Given the description of an element on the screen output the (x, y) to click on. 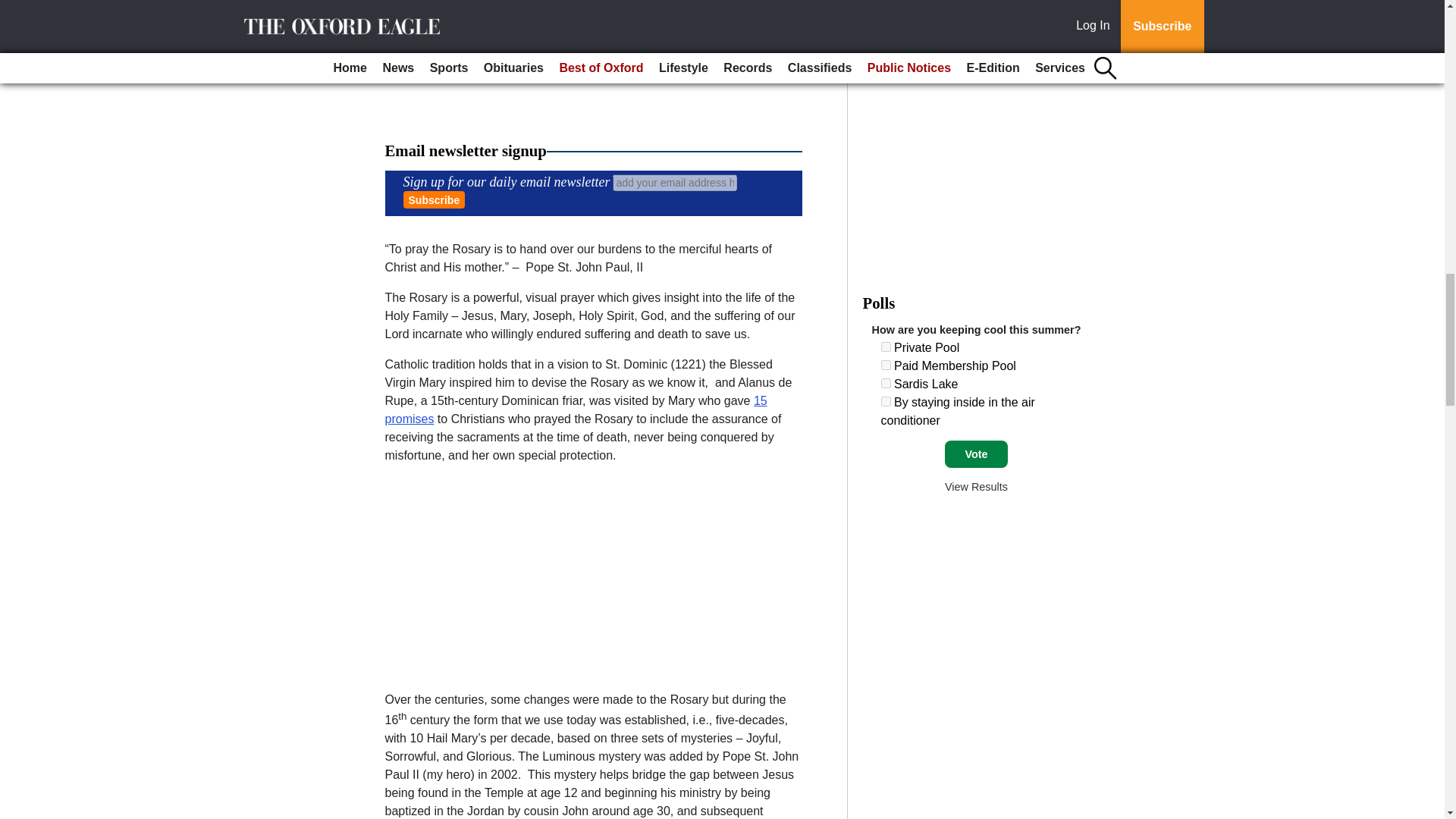
View Results Of This Poll (975, 486)
Subscribe (434, 199)
165 (885, 365)
164 (885, 347)
   Vote    (975, 453)
15 promises (576, 409)
167 (885, 401)
166 (885, 383)
Subscribe (434, 199)
